Given the description of an element on the screen output the (x, y) to click on. 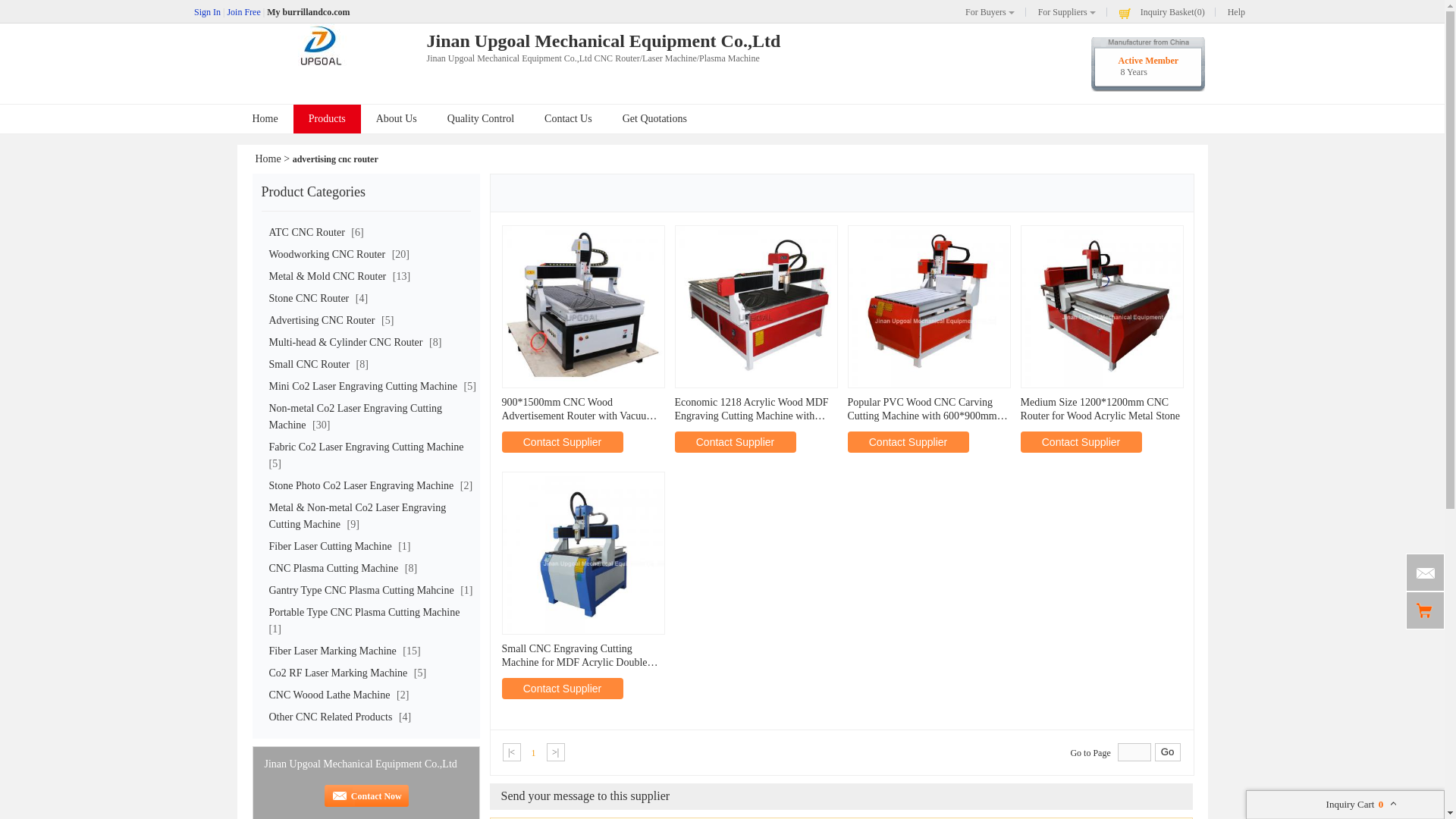
Home (263, 118)
Home (267, 158)
Products (327, 118)
Go (1167, 751)
For Suppliers (1066, 11)
Get Quotations (654, 118)
About Us (396, 118)
For Buyers (989, 11)
Sign In (207, 10)
Help (1232, 11)
Join Free (243, 10)
Contact Us (568, 118)
Quality Control (480, 118)
My burrillandco.com (307, 10)
